Given the description of an element on the screen output the (x, y) to click on. 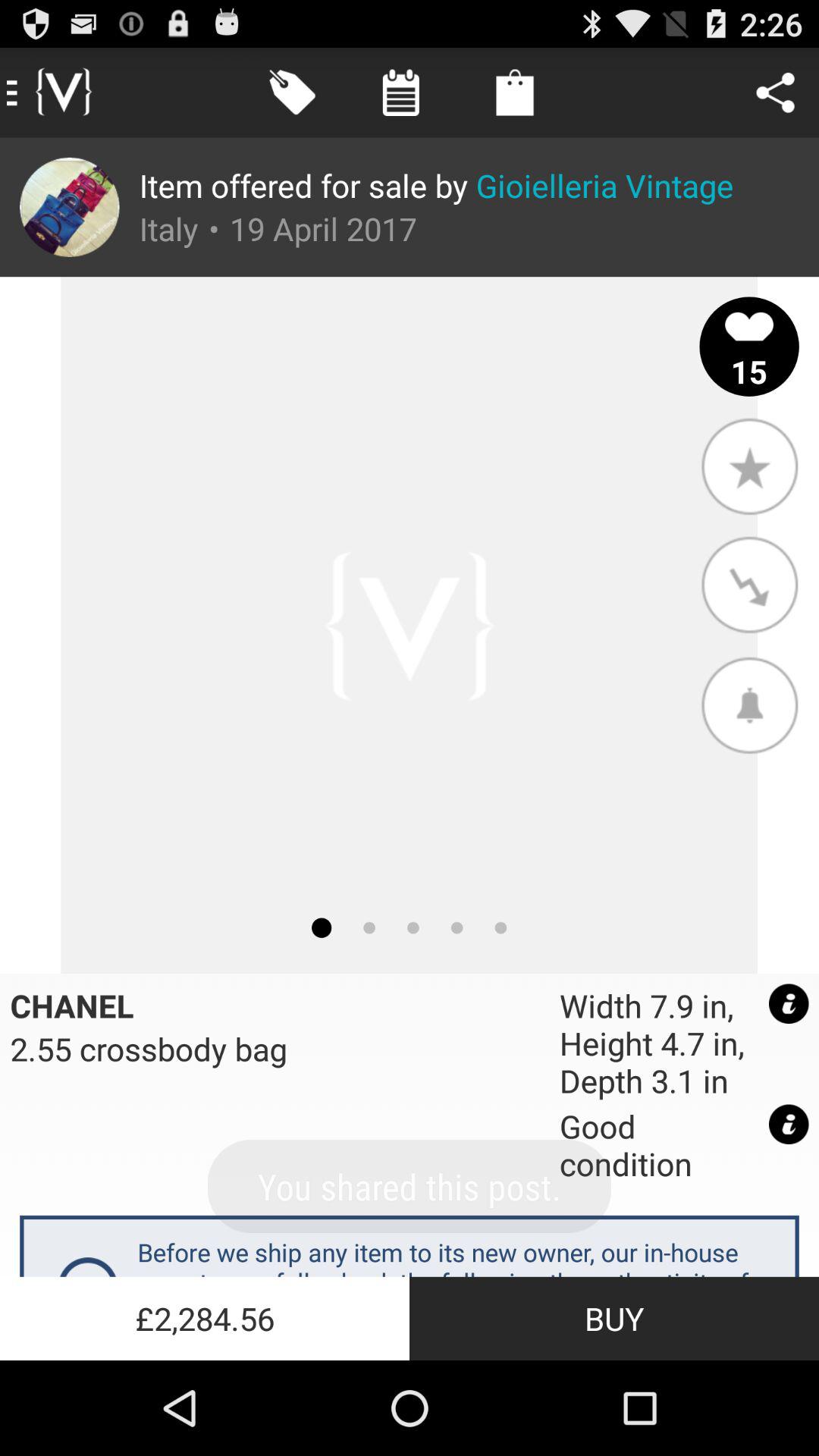
tap the app to the left of item offered for item (69, 207)
